Given the description of an element on the screen output the (x, y) to click on. 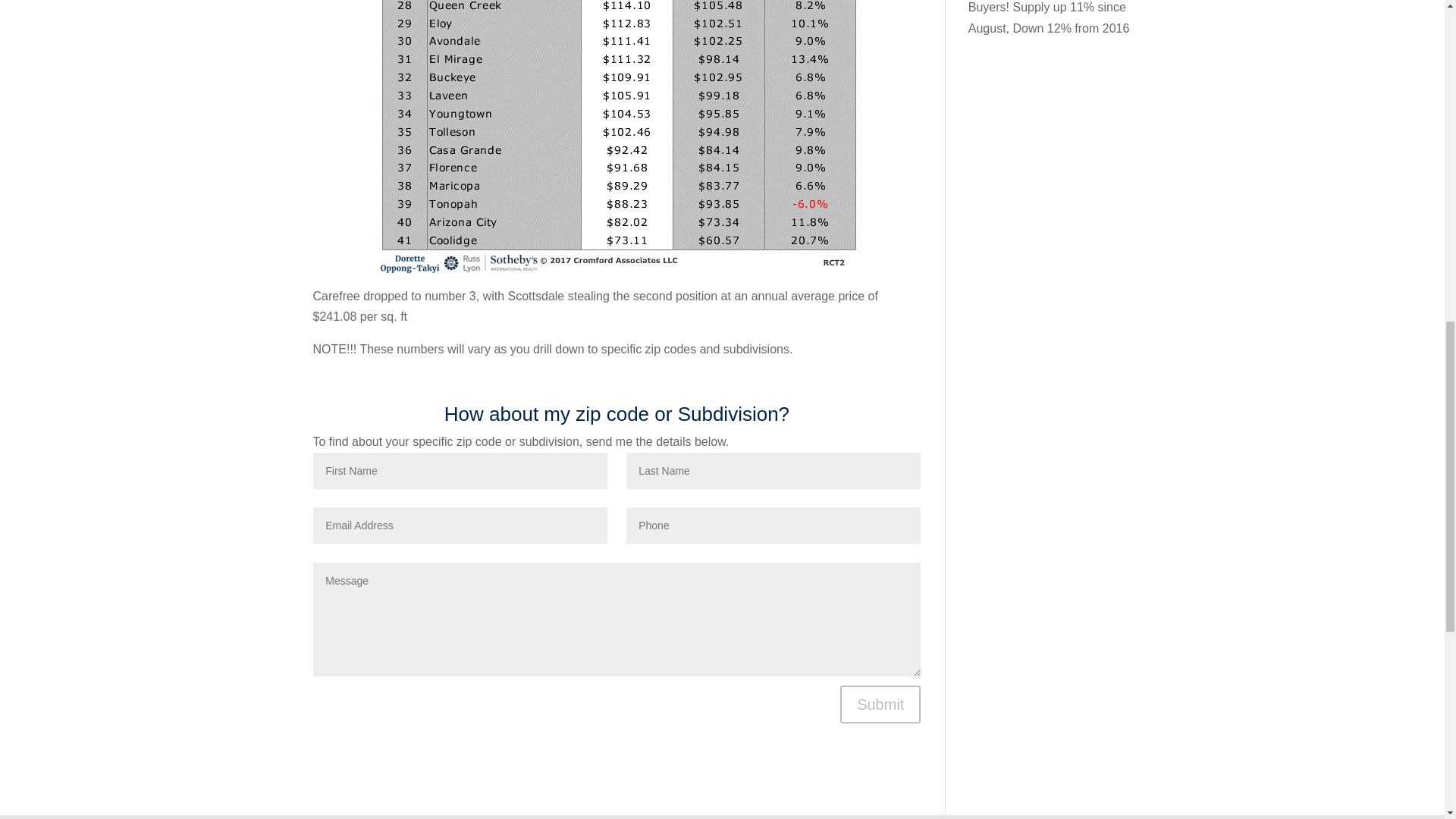
Submit (880, 704)
